Given the description of an element on the screen output the (x, y) to click on. 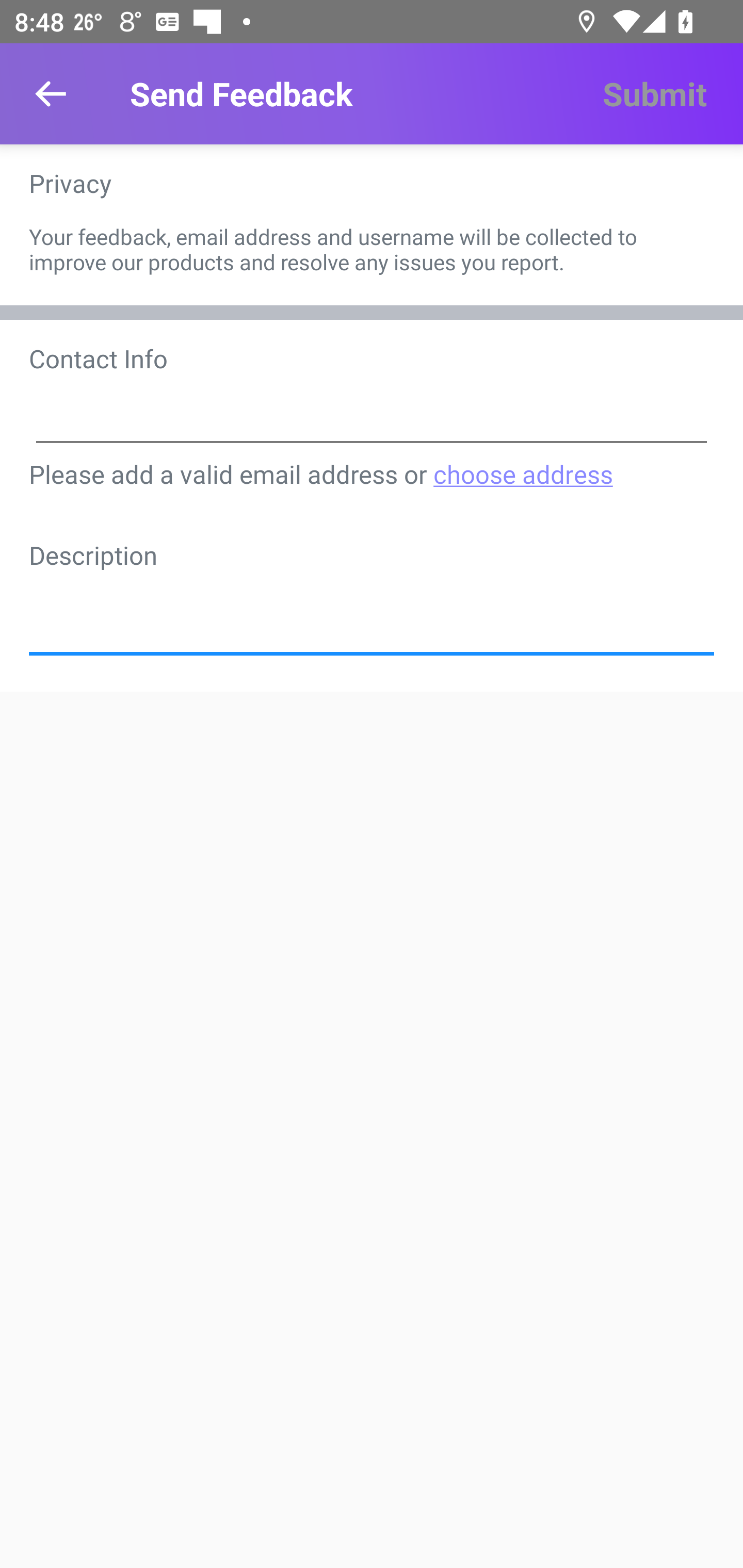
Navigate up (50, 93)
Submit (654, 94)
choose address (522, 473)
feedback (371, 608)
